Given the description of an element on the screen output the (x, y) to click on. 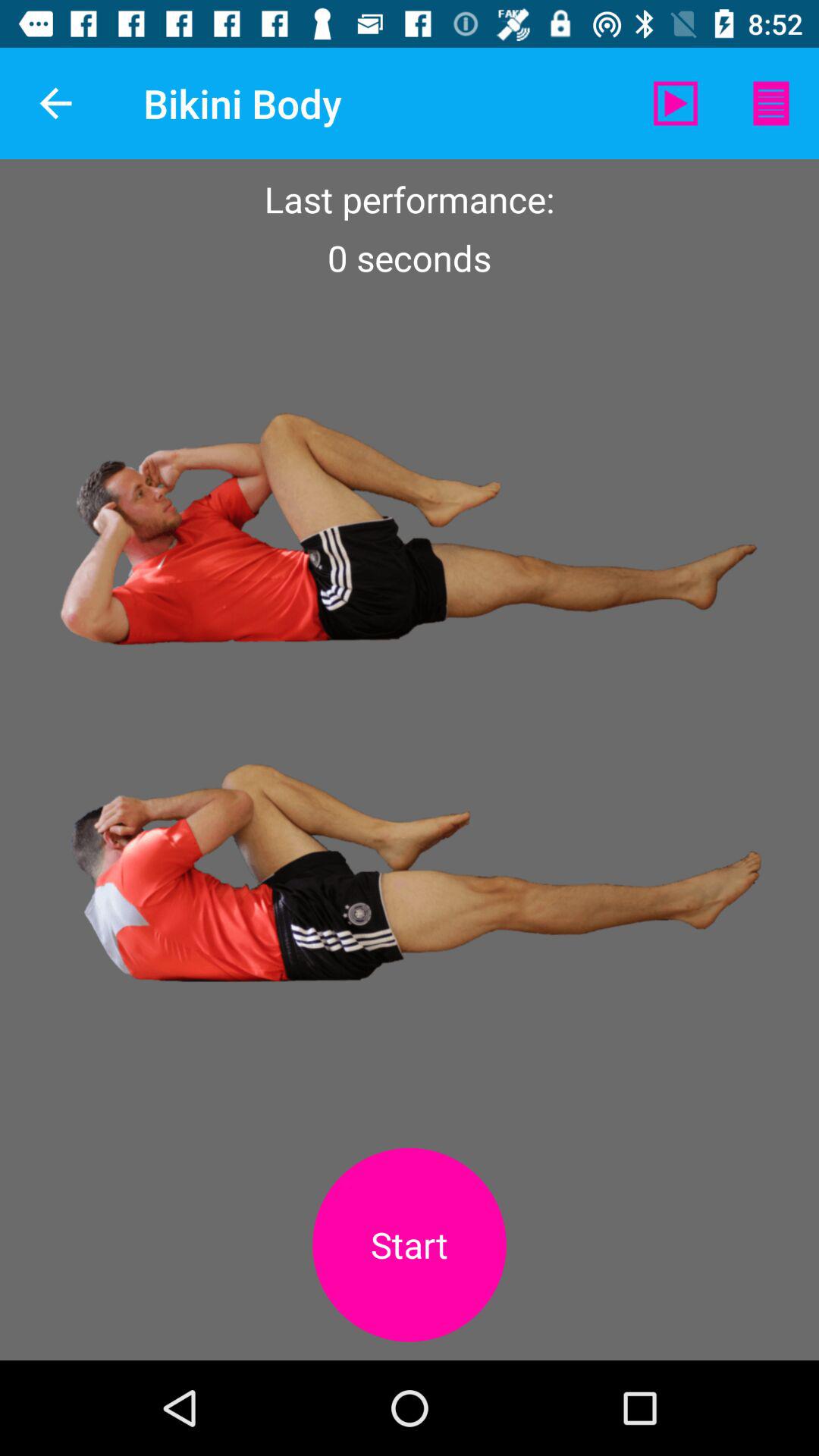
launch the item to the left of the bikini body icon (55, 103)
